Given the description of an element on the screen output the (x, y) to click on. 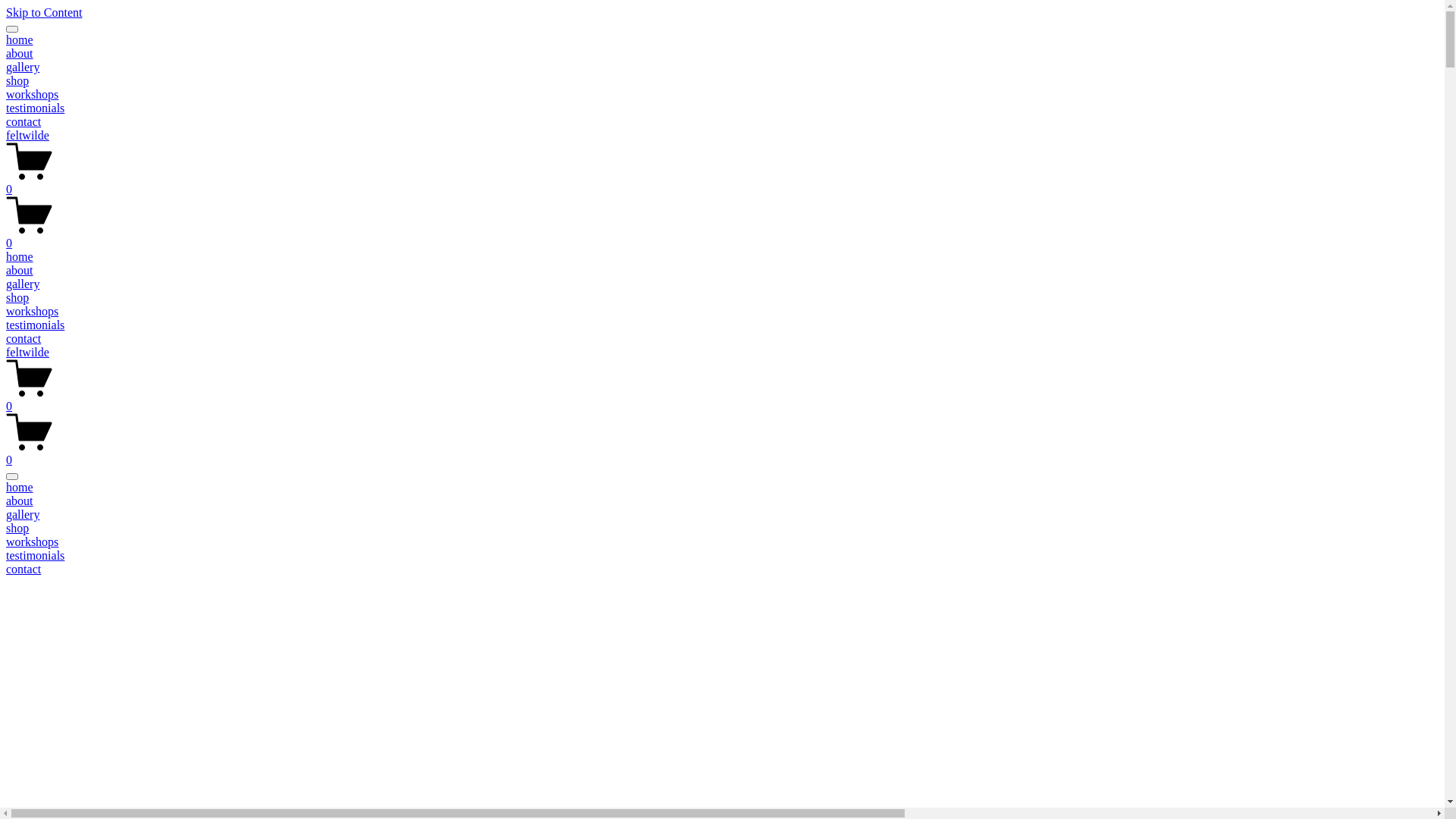
shop Element type: text (722, 528)
testimonials Element type: text (35, 324)
0 Element type: text (722, 182)
about Element type: text (19, 269)
testimonials Element type: text (722, 555)
workshops Element type: text (32, 93)
home Element type: text (19, 256)
gallery Element type: text (722, 514)
feltwilde Element type: text (27, 351)
about Element type: text (19, 53)
0 Element type: text (722, 399)
contact Element type: text (722, 569)
contact Element type: text (23, 121)
workshops Element type: text (722, 542)
0 Element type: text (722, 453)
gallery Element type: text (22, 66)
contact Element type: text (23, 338)
gallery Element type: text (22, 283)
workshops Element type: text (32, 310)
0 Element type: text (722, 236)
shop Element type: text (17, 80)
home Element type: text (19, 39)
home Element type: text (722, 487)
testimonials Element type: text (35, 107)
feltwilde Element type: text (27, 134)
about Element type: text (722, 501)
shop Element type: text (17, 297)
Skip to Content Element type: text (43, 12)
